Given the description of an element on the screen output the (x, y) to click on. 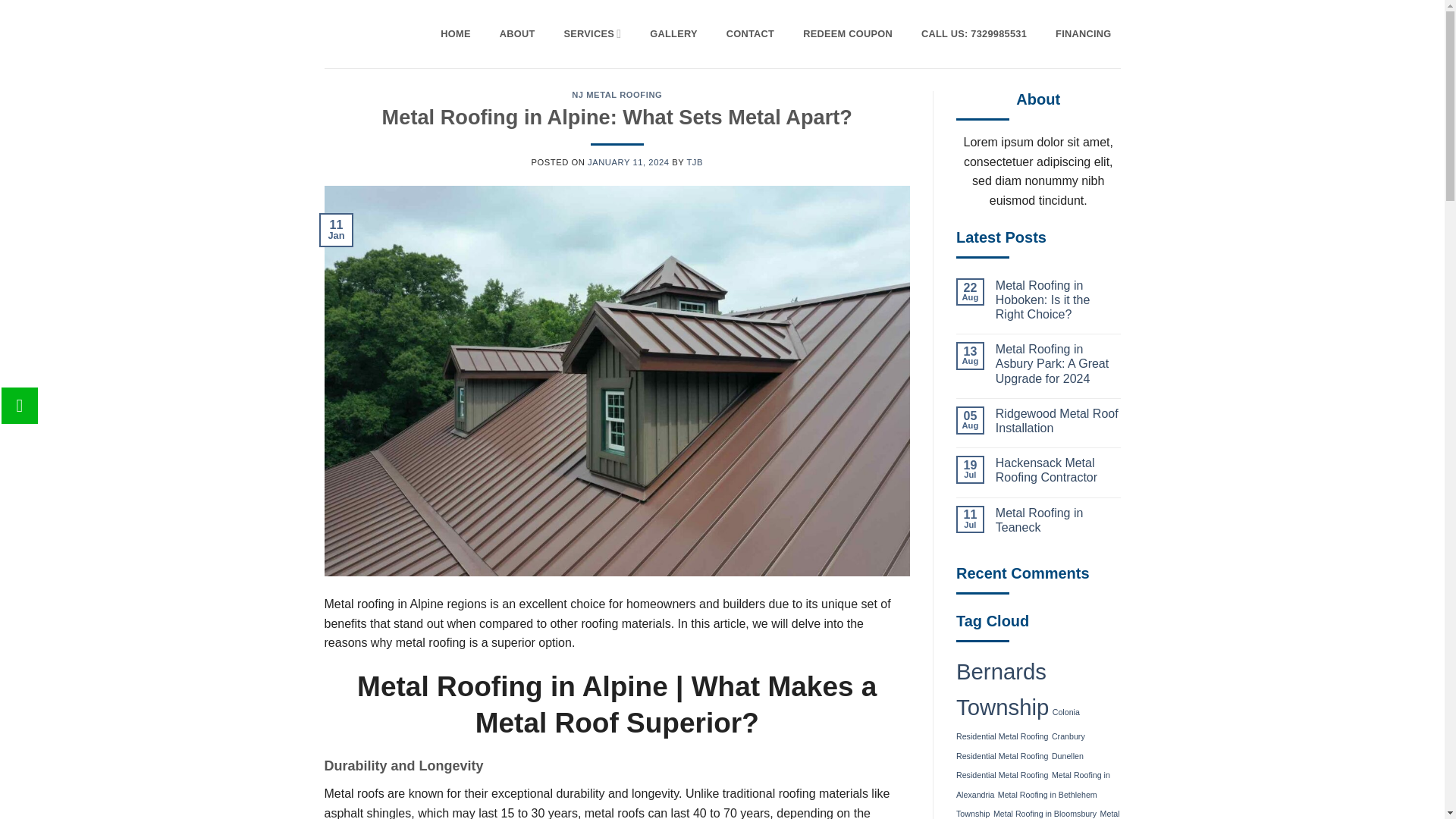
SERVICES (592, 33)
CONTACT (750, 33)
CALL US: 7329985531 (973, 33)
Metal Roofing in Hoboken: Is it the Right Choice? (1058, 300)
TJB (694, 162)
REDEEM COUPON (847, 33)
Hackensack Metal Roofing Contractor (1058, 469)
ABOUT (517, 33)
GALLERY (673, 33)
FINANCING (1082, 33)
